Given the description of an element on the screen output the (x, y) to click on. 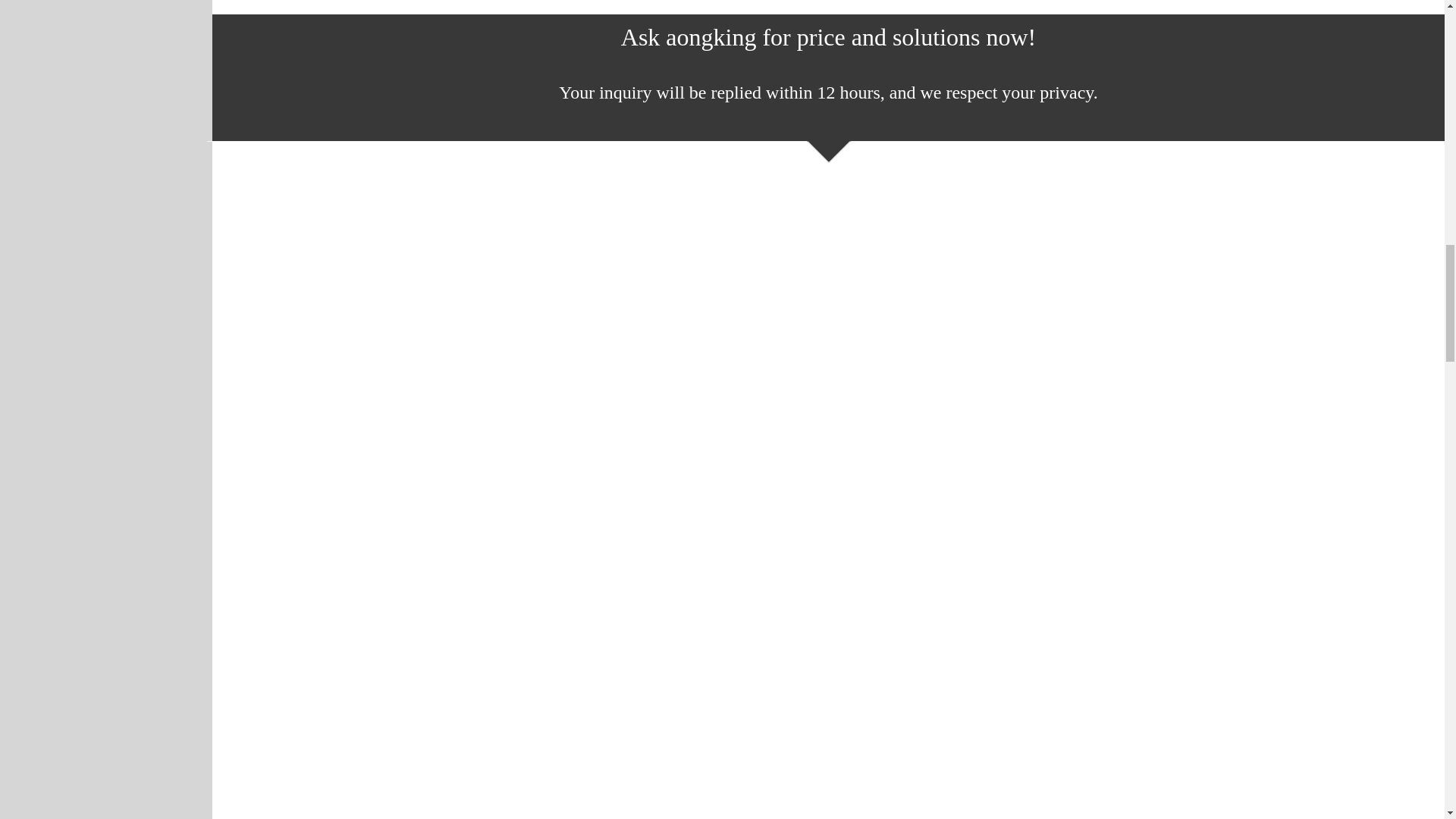
More Similar Sculpture (828, 7)
